Given the description of an element on the screen output the (x, y) to click on. 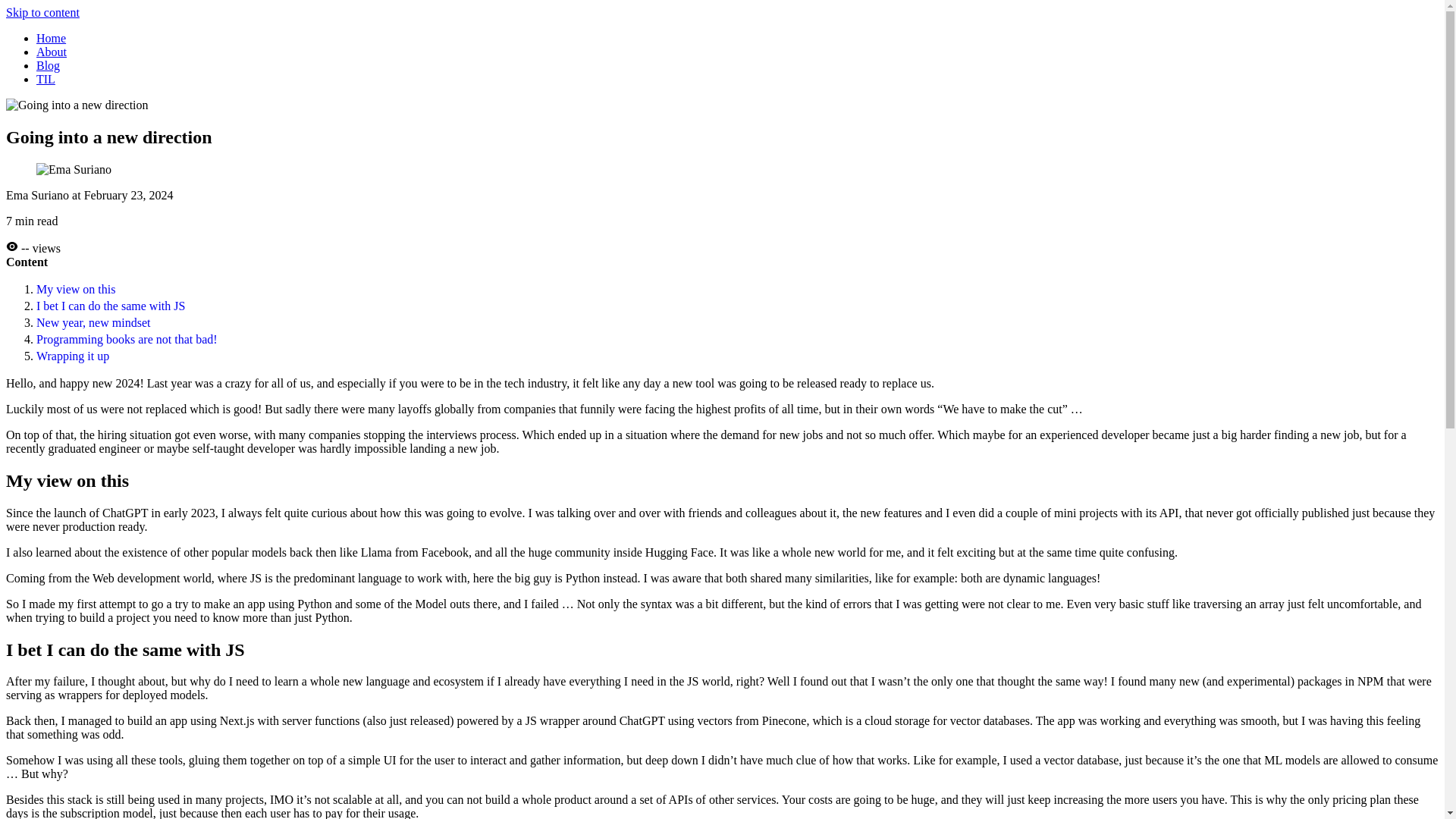
Blog (47, 65)
Home (50, 38)
Skip to content (42, 11)
About (51, 51)
TIL (45, 78)
